Given the description of an element on the screen output the (x, y) to click on. 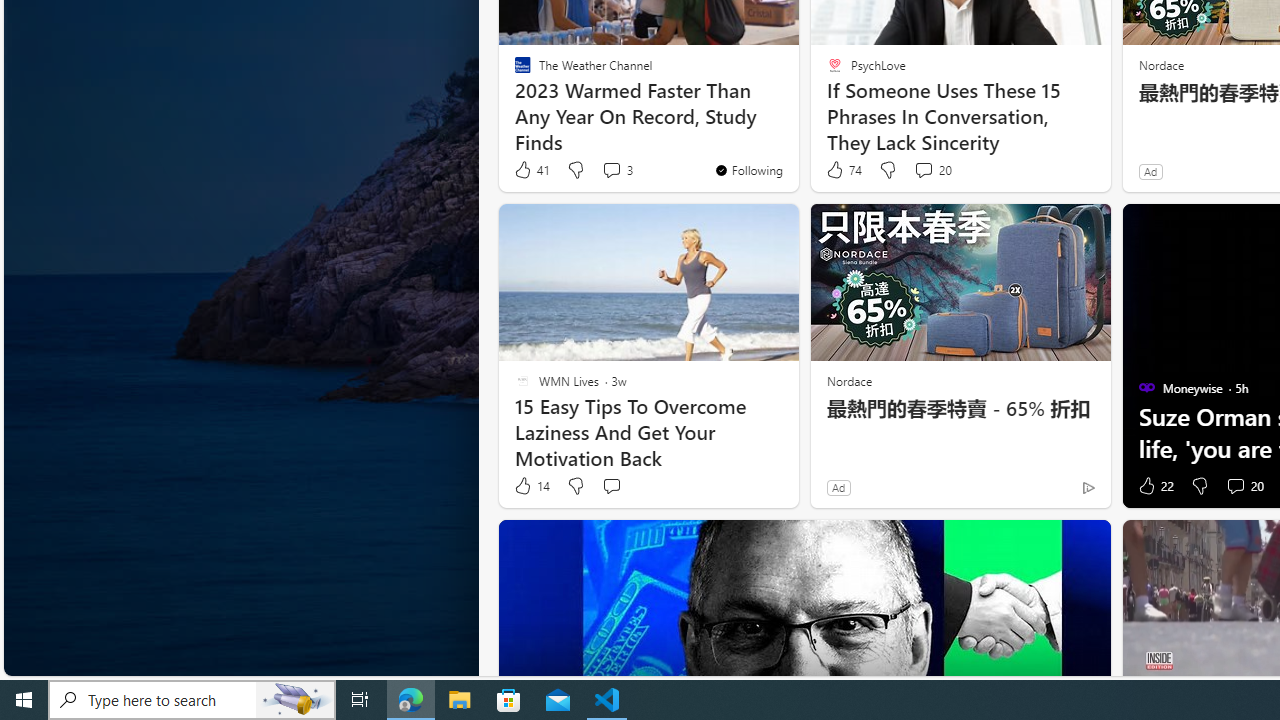
74 Like (843, 170)
22 Like (1154, 485)
View comments 20 Comment (1234, 485)
View comments 20 Comment (1244, 485)
14 Like (531, 485)
41 Like (531, 170)
